Given the description of an element on the screen output the (x, y) to click on. 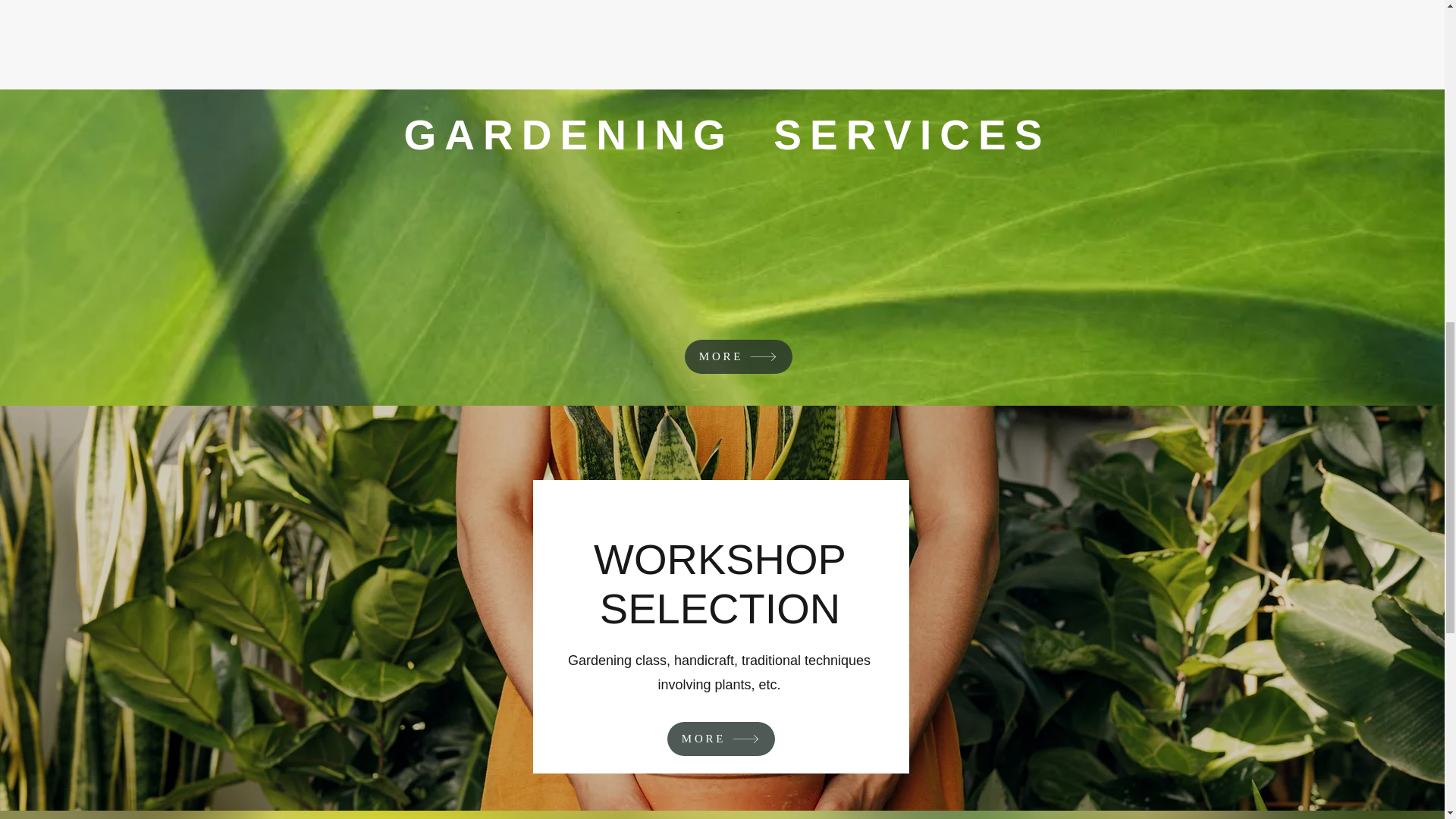
MORE (720, 738)
MORE (738, 356)
